Given the description of an element on the screen output the (x, y) to click on. 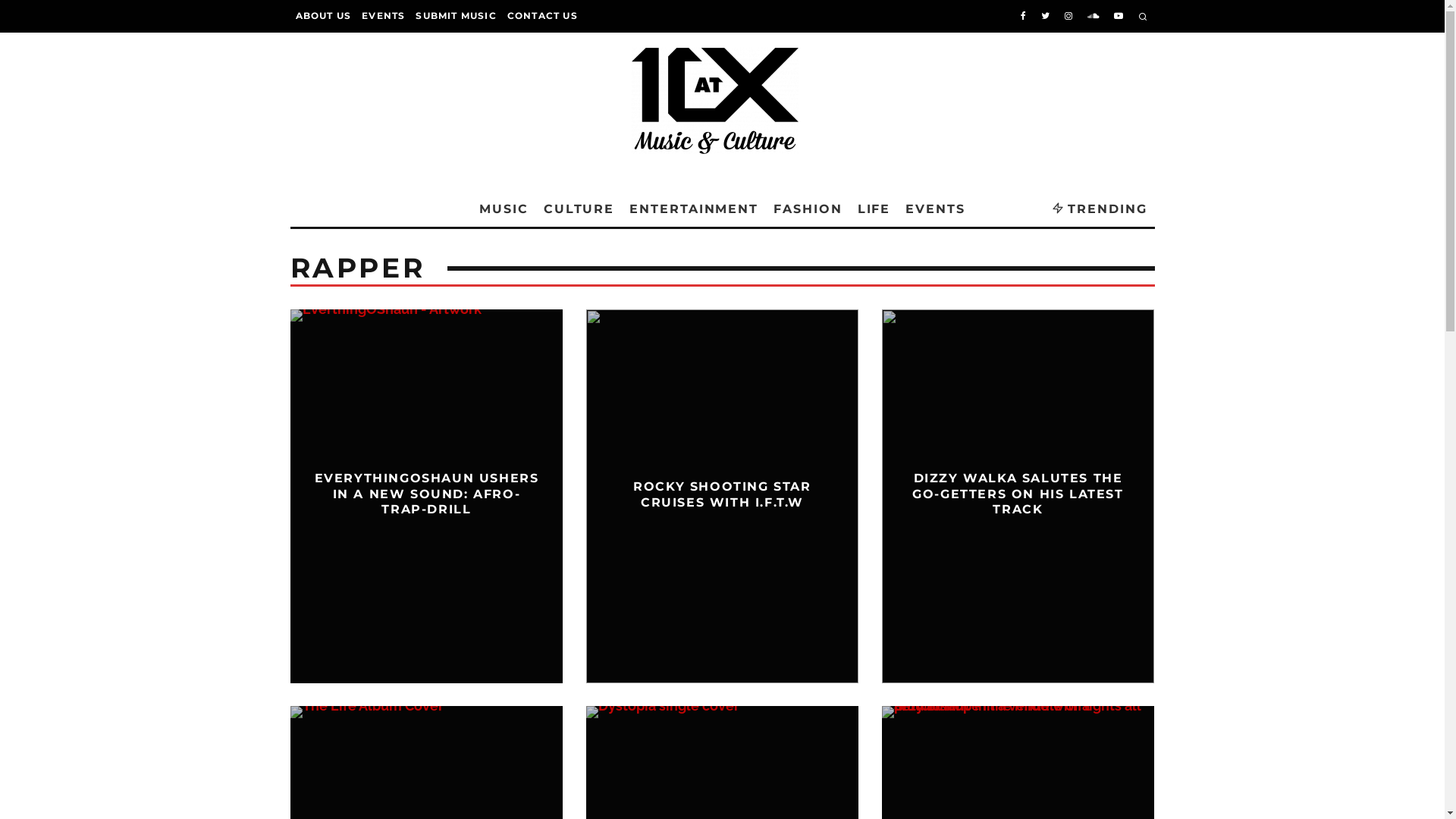
ABOUT US Element type: text (322, 15)
TRENDING Element type: text (1099, 208)
CONTACT US Element type: text (542, 15)
Log In Element type: text (628, 401)
CULTURE Element type: text (578, 208)
SUBMIT MUSIC Element type: text (455, 15)
MUSIC Element type: text (503, 208)
ENTERTAINMENT Element type: text (693, 208)
EVENTS Element type: text (383, 15)
EVENTS Element type: text (934, 208)
LIFE Element type: text (874, 208)
ROCKY SHOOTING STAR CRUISES WITH I.F.T.W Element type: text (721, 493)
DIZZY WALKA SALUTES THE GO-GETTERS ON HIS LATEST TRACK Element type: text (1017, 493)
FASHION Element type: text (807, 208)
EVERYTHINGOSHAUN USHERS IN A NEW SOUND: AFRO-TRAP-DRILL Element type: text (426, 493)
